Given the description of an element on the screen output the (x, y) to click on. 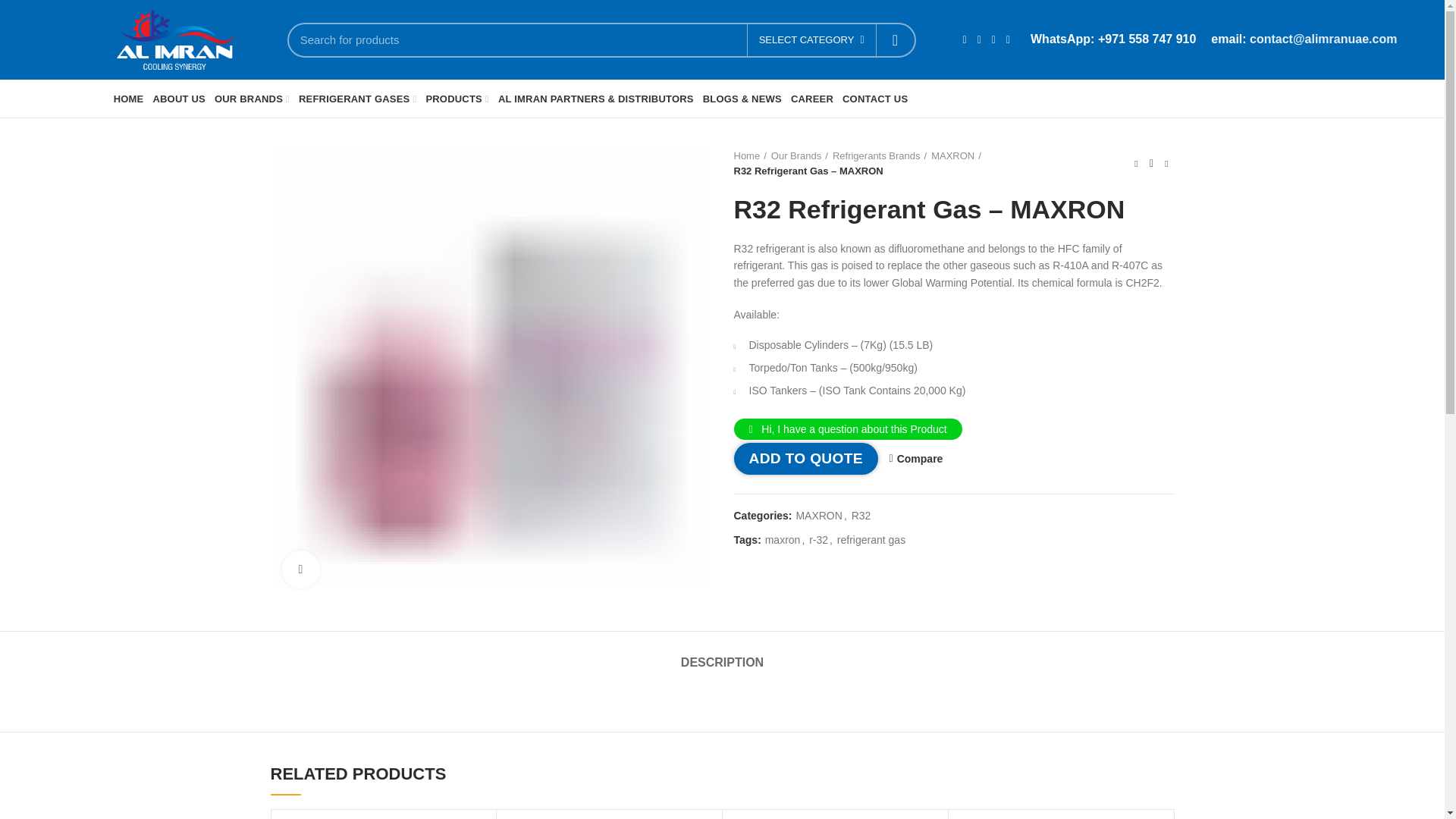
SELECT CATEGORY (812, 40)
SELECT CATEGORY (811, 40)
